Given the description of an element on the screen output the (x, y) to click on. 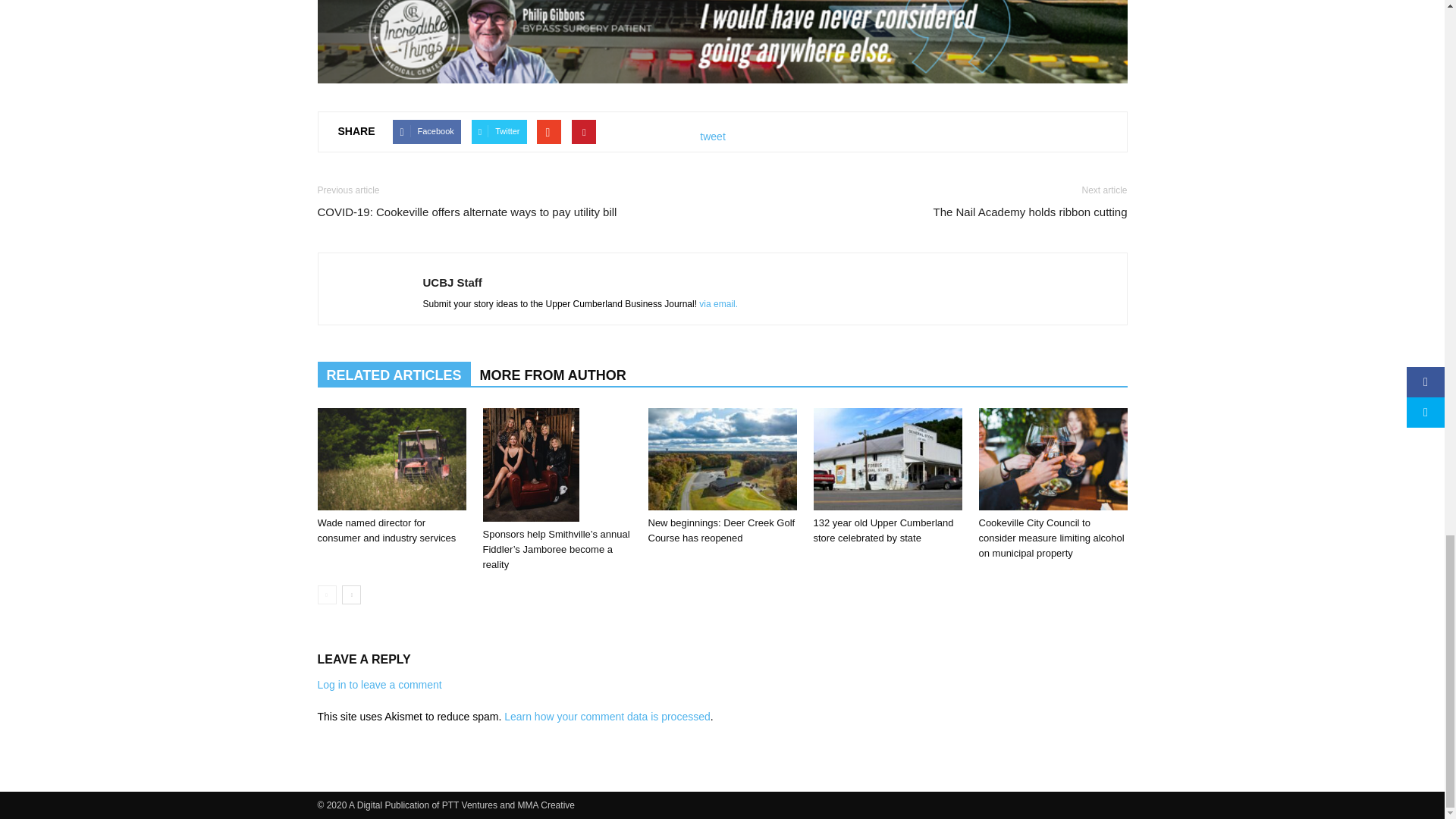
Wade named director for consumer and industry services (386, 529)
Wade named director for consumer and industry services (391, 458)
New beginnings: Deer Creek Golf Course has reopened (721, 458)
